Given the description of an element on the screen output the (x, y) to click on. 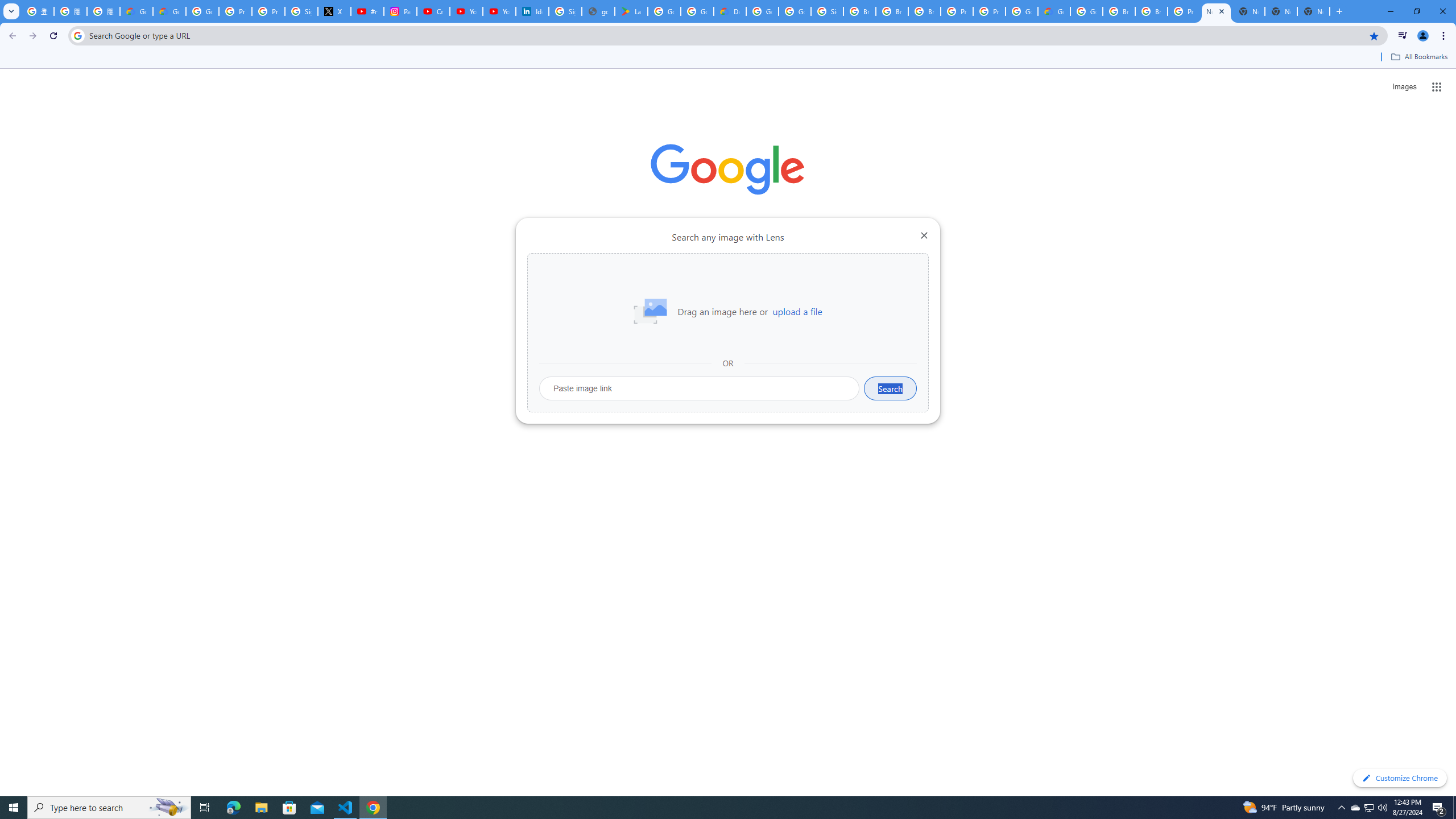
Google Cloud Privacy Notice (169, 11)
Google Workspace - Specific Terms (697, 11)
